Given the description of an element on the screen output the (x, y) to click on. 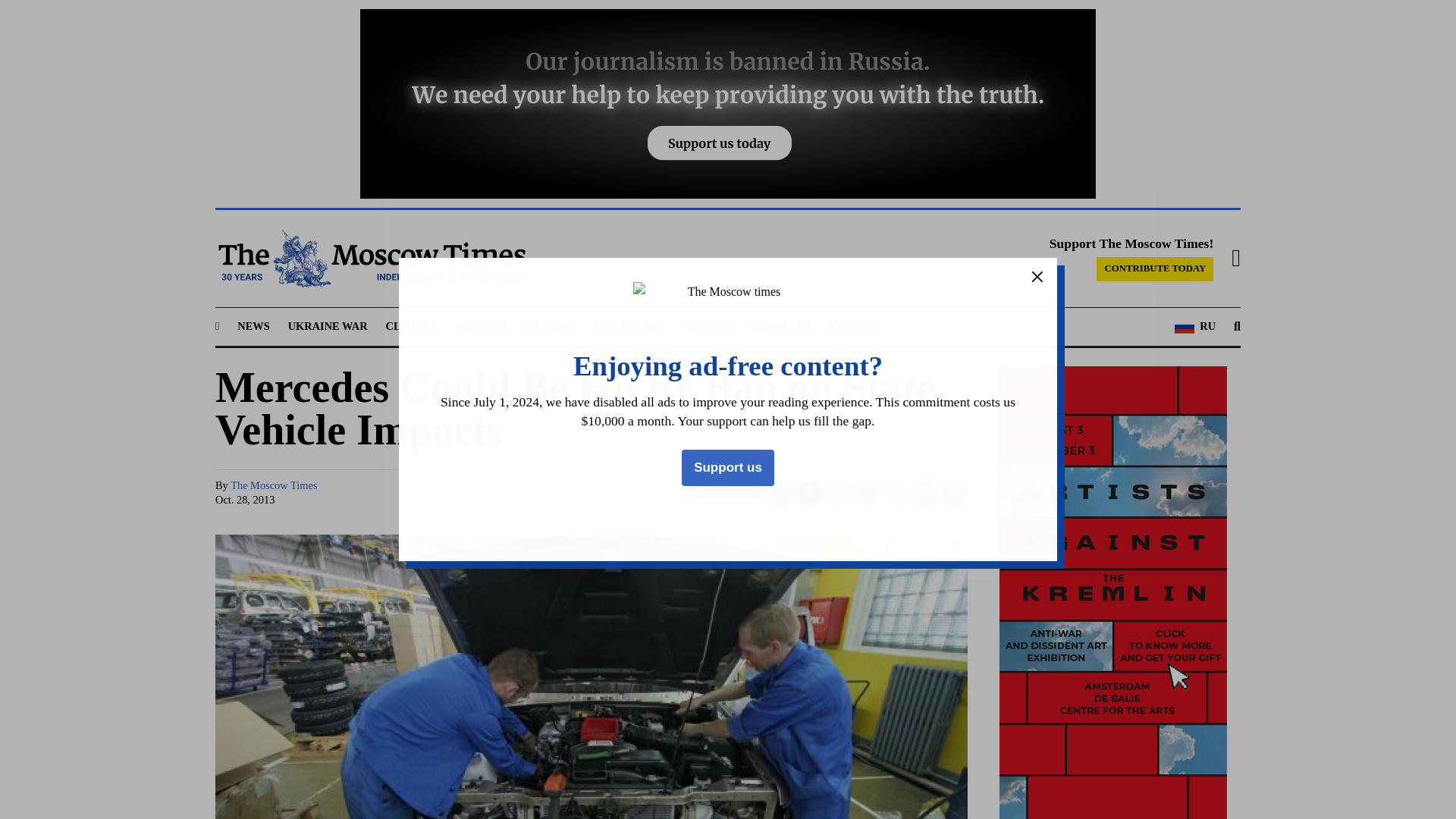
UKRAINE WAR (328, 326)
ARCHIVE (853, 326)
Share on Flipboard (925, 492)
PODCASTS (780, 326)
Share on Twitter (810, 492)
The Moscow Times - Independent News from Russia (370, 258)
CLIMATE (411, 326)
RU (1194, 326)
Share on Telegram (838, 492)
The Moscow Times (273, 485)
REGIONS (479, 326)
BUSINESS (550, 326)
NEWS (253, 326)
CONTRIBUTE TODAY (1154, 269)
OPINION (708, 326)
